Given the description of an element on the screen output the (x, y) to click on. 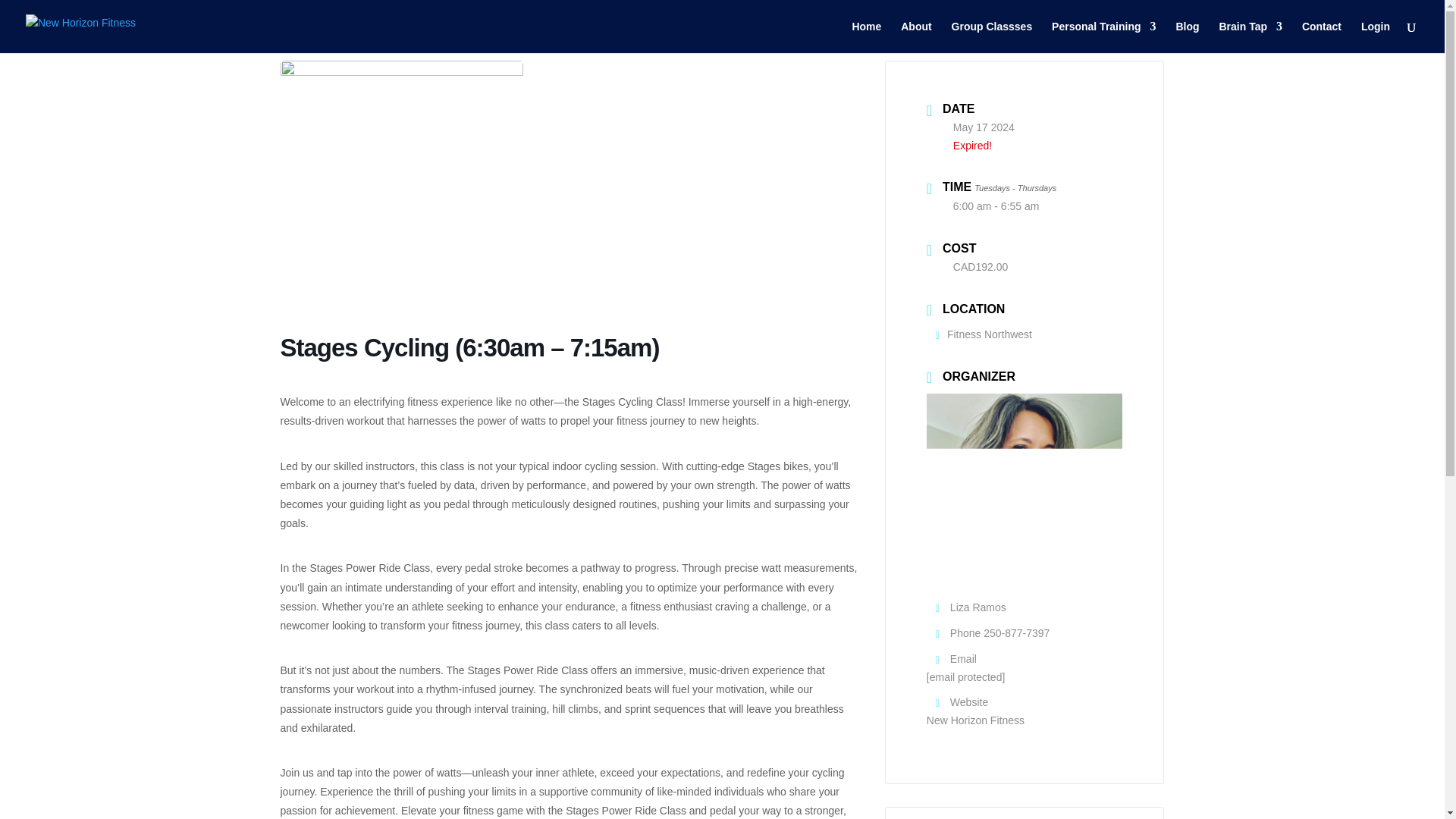
New Horizon Fitness (975, 720)
Home (865, 37)
250-877-7397 (1016, 633)
Login (1375, 37)
Contact (1320, 37)
About (916, 37)
Personal Training (1103, 37)
Brain Tap (1250, 37)
Group Classses (992, 37)
